Given the description of an element on the screen output the (x, y) to click on. 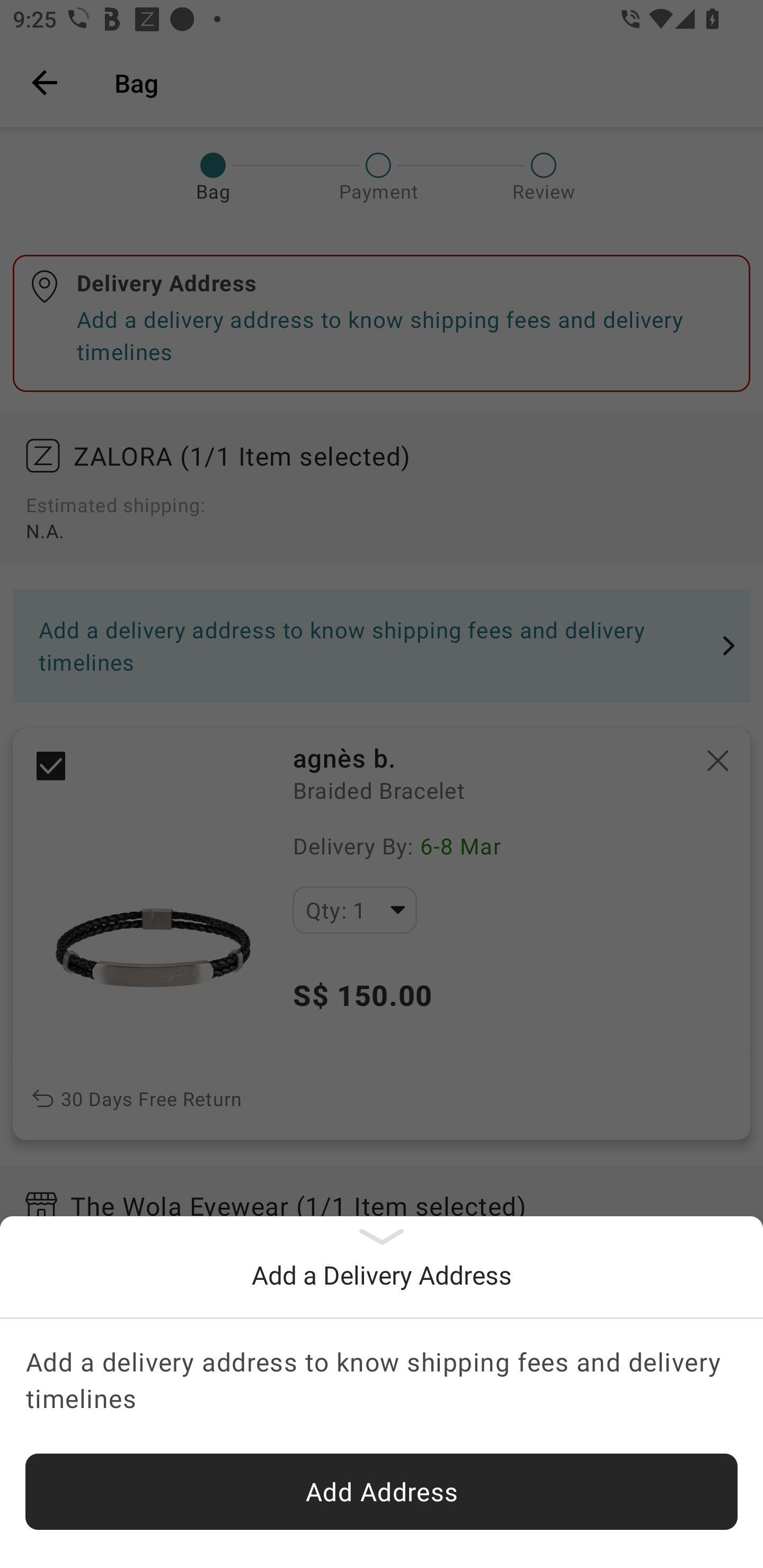
Add Address (381, 1491)
